Given the description of an element on the screen output the (x, y) to click on. 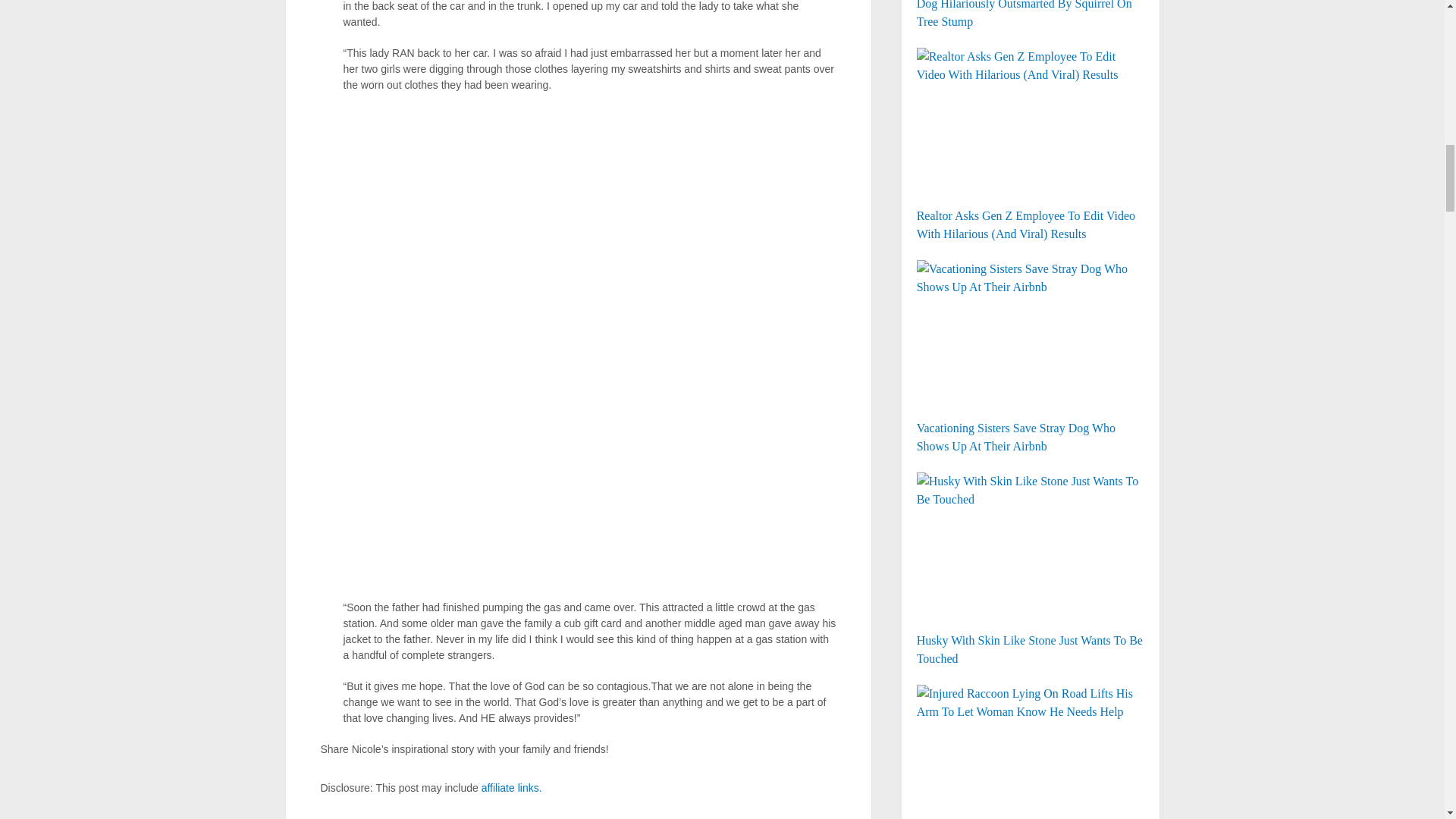
Dog Hilariously Outsmarted By Squirrel On Tree Stump (1030, 15)
